Given the description of an element on the screen output the (x, y) to click on. 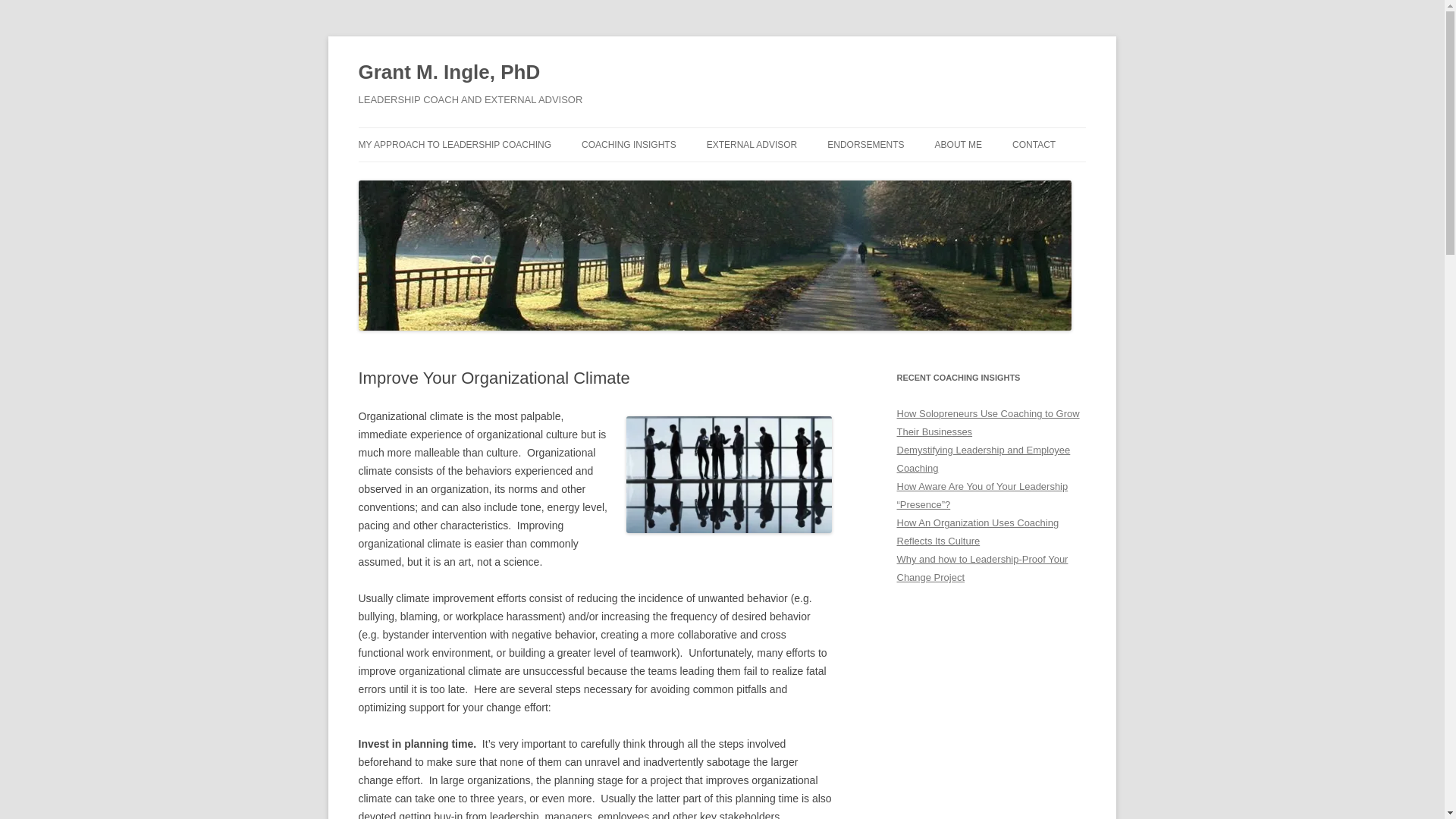
Demystifying Leadership and Employee Coaching (983, 459)
CONTACT (1033, 144)
Grant M. Ingle, PhD (449, 72)
How Solopreneurs Use Coaching to Grow Their Businesses (987, 422)
MY APPROACH TO LEADERSHIP COACHING (454, 144)
How An Organization Uses Coaching Reflects Its Culture (977, 531)
ENDORSEMENTS (865, 144)
EXTERNAL ADVISOR (751, 144)
ABOUT ME (957, 144)
COACHING INSIGHTS (628, 144)
